Given the description of an element on the screen output the (x, y) to click on. 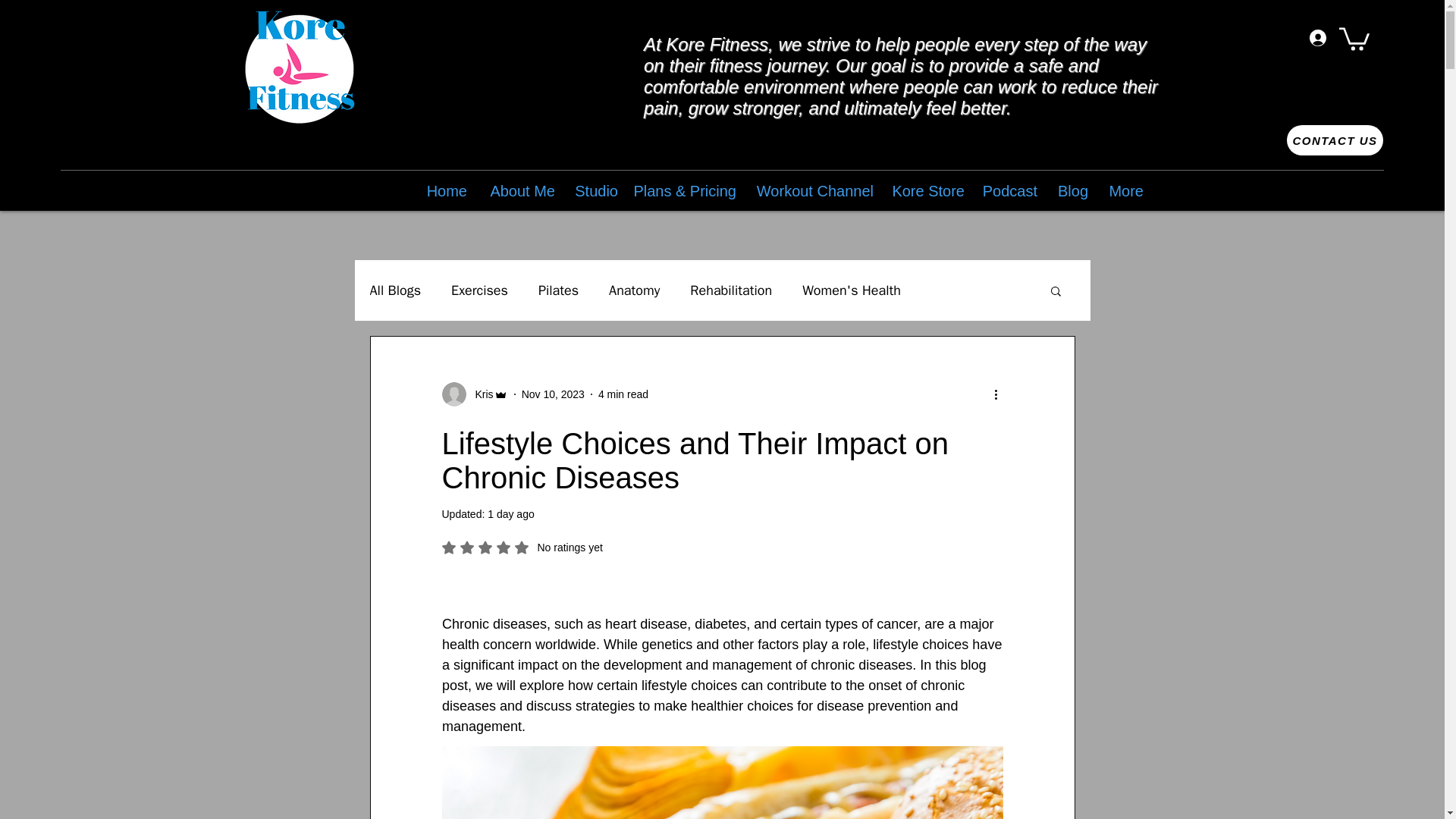
Podcast (1008, 190)
Blog (1070, 190)
Home (443, 190)
Women's Health (851, 290)
Nov 10, 2023 (553, 394)
CONTACT US (1335, 140)
4 min read (622, 394)
Kris (473, 394)
Anatomy (633, 290)
Pilates (558, 290)
Kore Store (926, 190)
Studio (594, 190)
Kris (479, 394)
All Blogs (395, 290)
Exercises (479, 290)
